Given the description of an element on the screen output the (x, y) to click on. 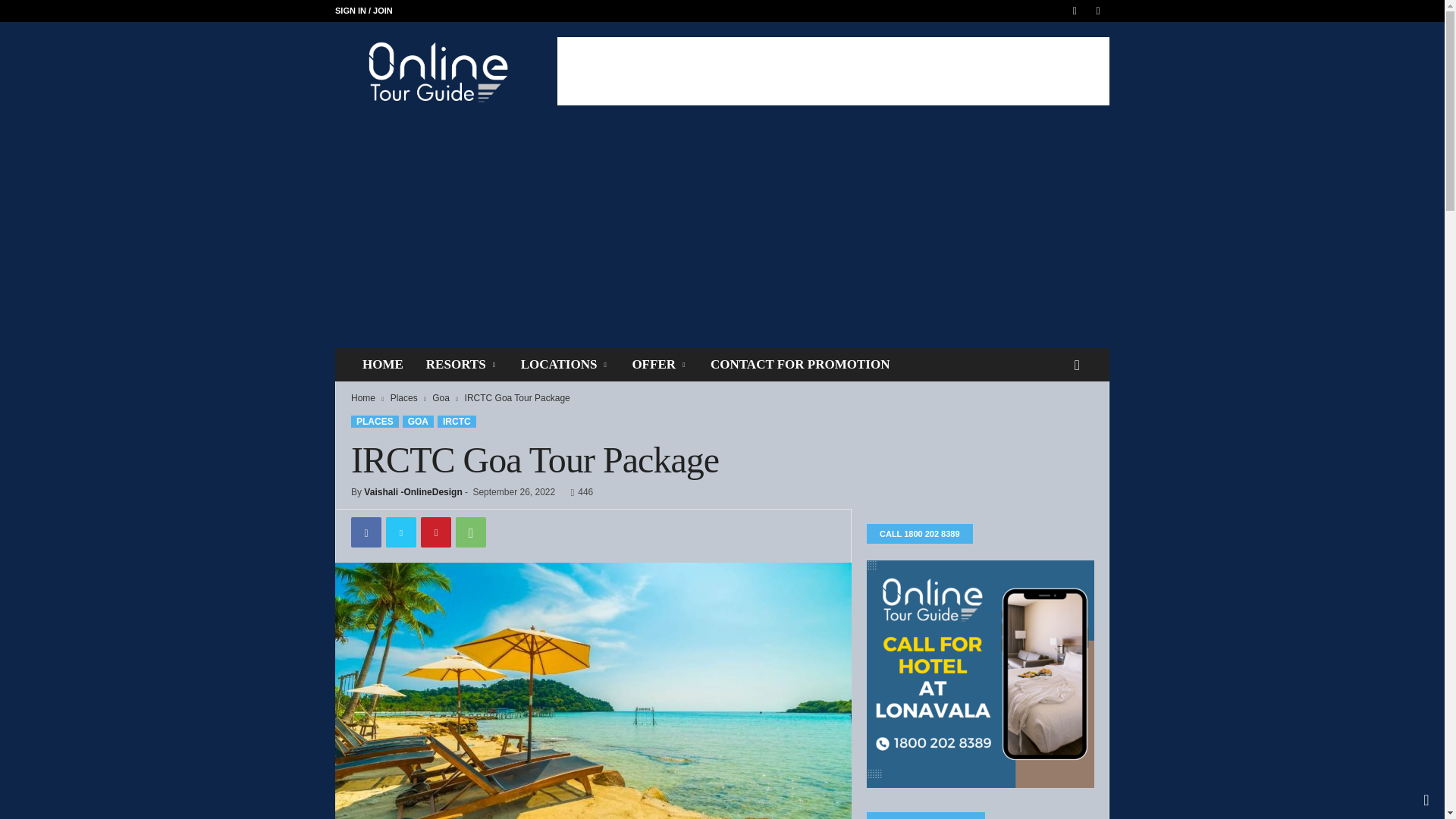
Twitter (400, 531)
HOME (382, 364)
View all posts in Places (403, 398)
Online Tour Guide (437, 70)
Vaishali -OnlineDesign (412, 491)
WhatsApp (470, 531)
Advertisement (833, 70)
IRCTC (457, 421)
PLACES (374, 421)
OFFER (659, 364)
View all posts in Goa (440, 398)
Goa (440, 398)
Pinterest (435, 531)
GOA (418, 421)
